Given the description of an element on the screen output the (x, y) to click on. 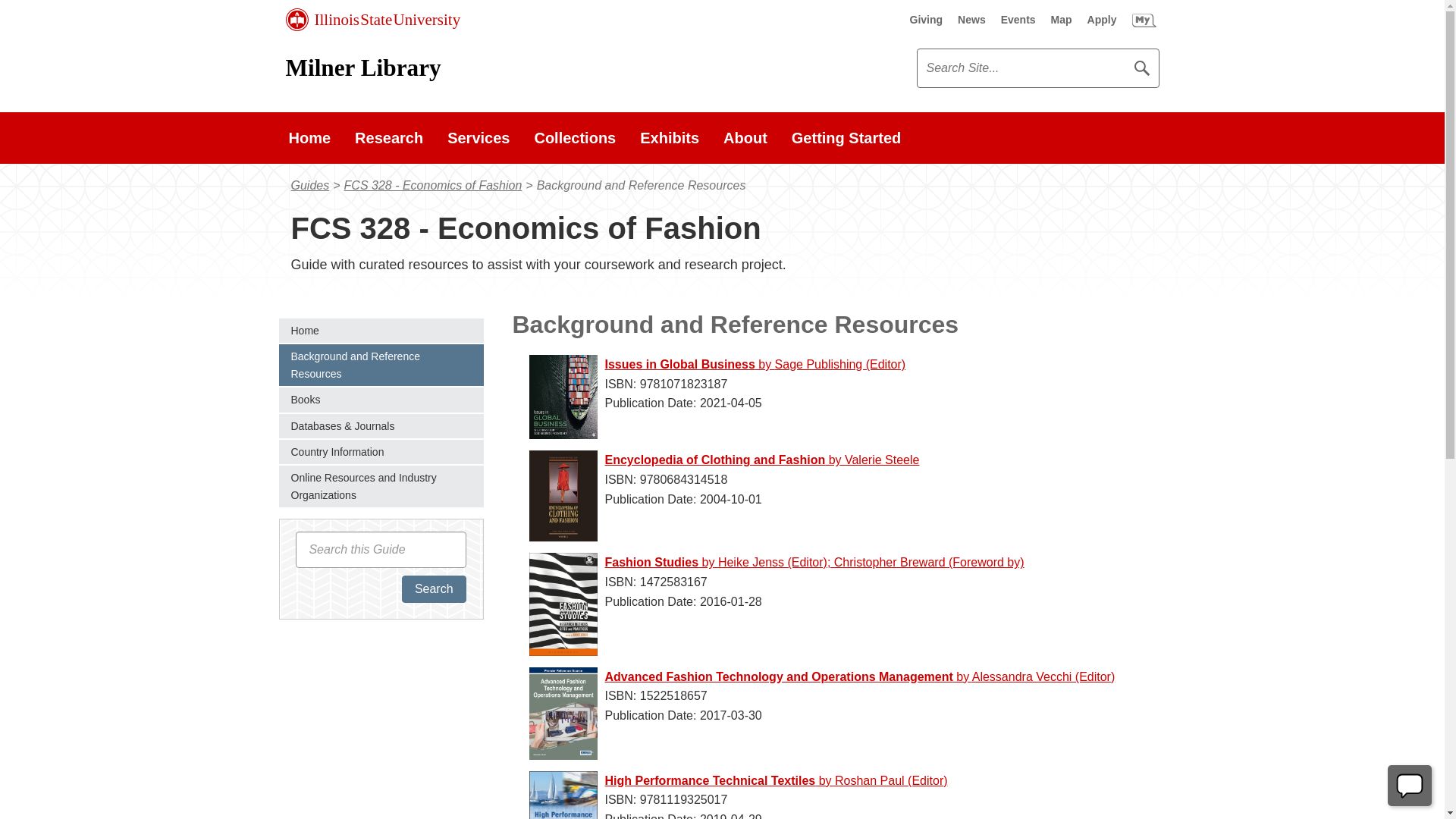
News (971, 19)
Illinois State University (372, 19)
Online Resources and Industry Organizations (381, 486)
Search (433, 588)
Apply (1101, 19)
Books (381, 399)
Country Information (381, 451)
About (744, 137)
My Illinois State (1143, 19)
Collections (574, 137)
My Illinois State (1143, 20)
Offline (1409, 785)
Exhibits (669, 137)
Events (1018, 19)
Home (381, 330)
